Given the description of an element on the screen output the (x, y) to click on. 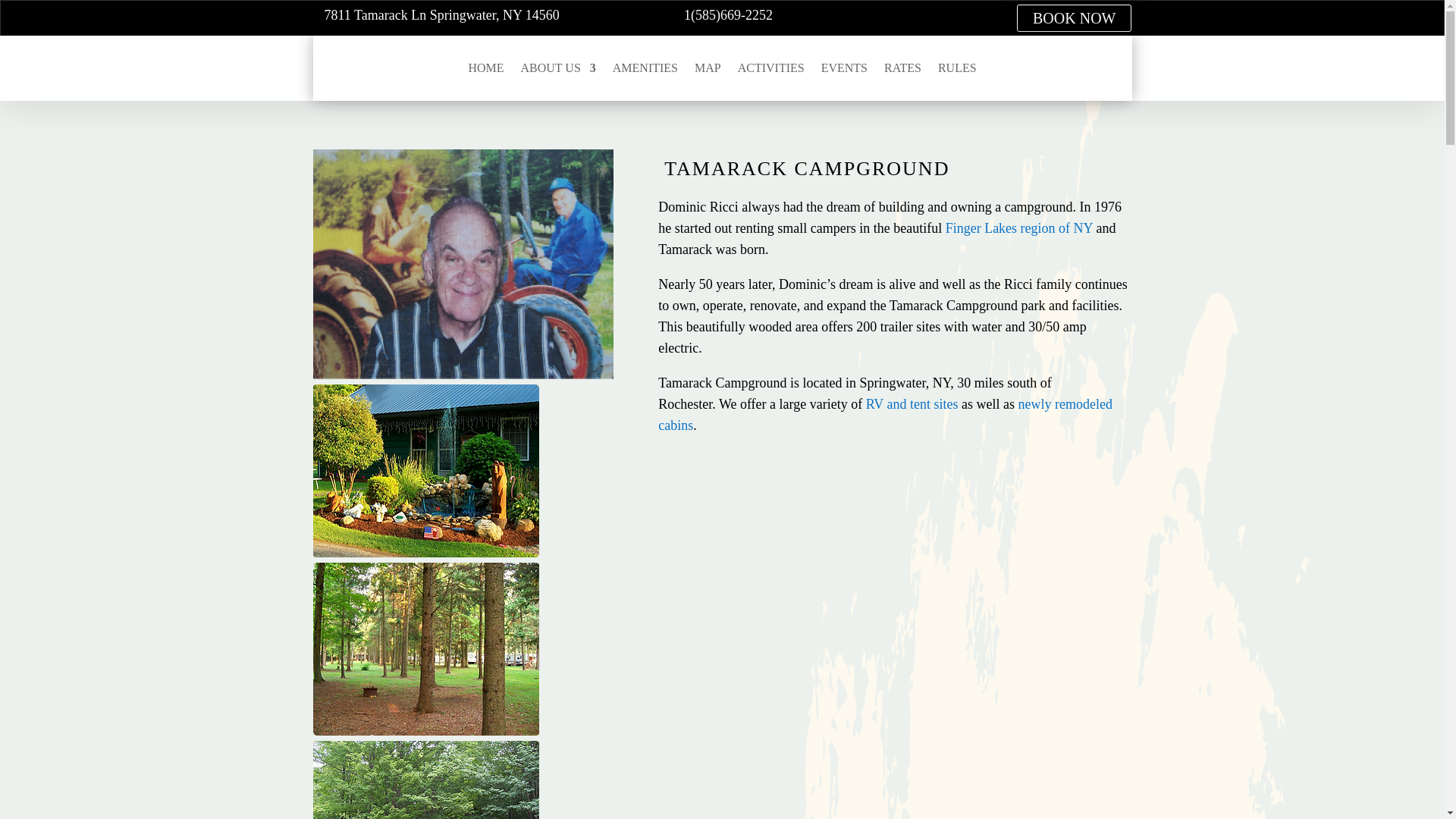
rec hall (425, 470)
Dad (462, 264)
ACTIVITIES (771, 68)
BOOK NOW (1073, 17)
Finger Lakes region of NY (1018, 227)
RV and tent sites (912, 403)
sign (425, 780)
ABOUT US (558, 68)
newly remodeled cabins (885, 414)
7811 Tamarack Ln Springwater, NY 14560 (441, 14)
